Given the description of an element on the screen output the (x, y) to click on. 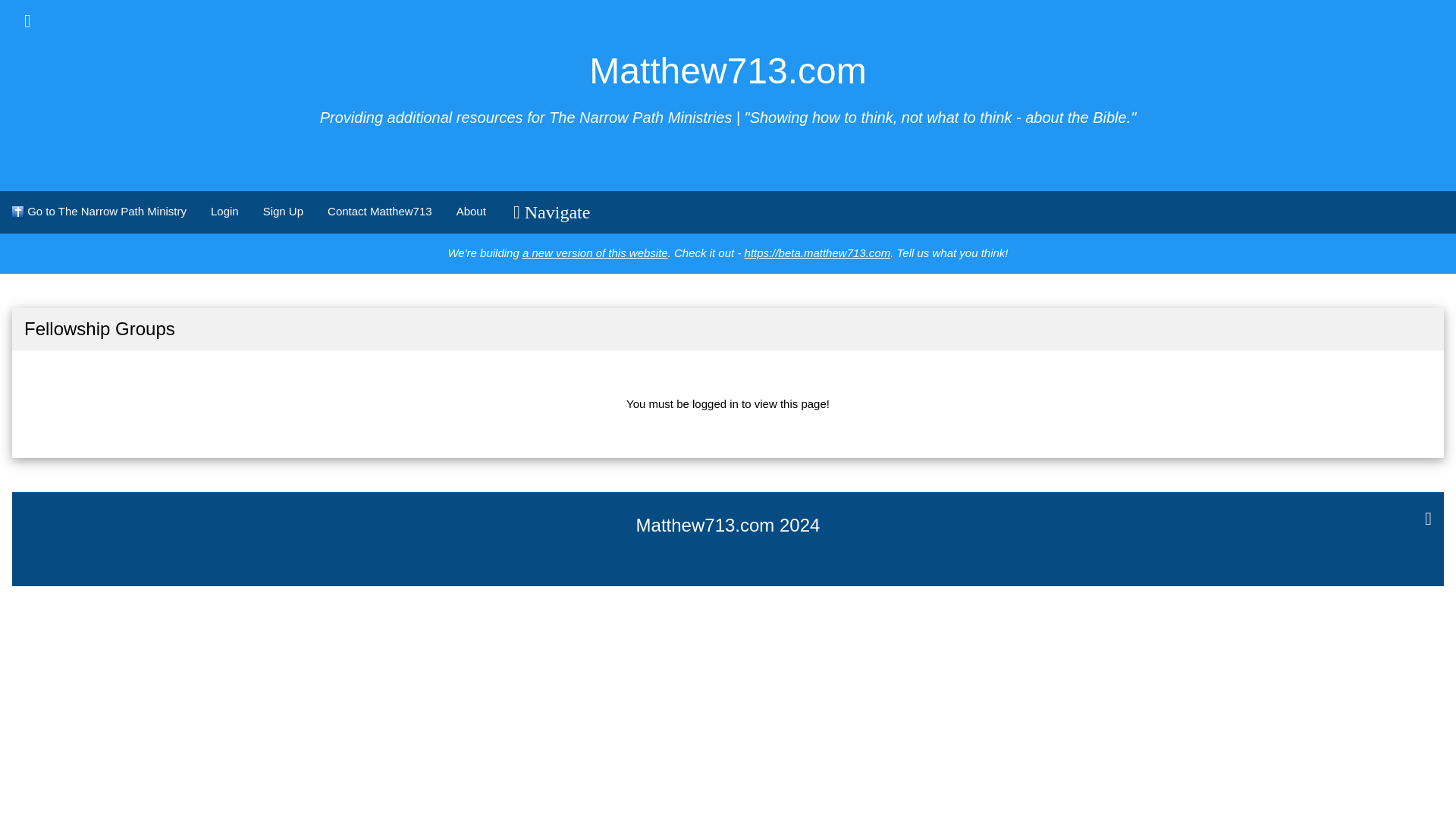
Sign Up (282, 211)
Login (224, 211)
About (470, 211)
Contact Matthew713 (379, 211)
a new version of this website (595, 252)
Go to The Narrow Path Ministry (99, 211)
